Given the description of an element on the screen output the (x, y) to click on. 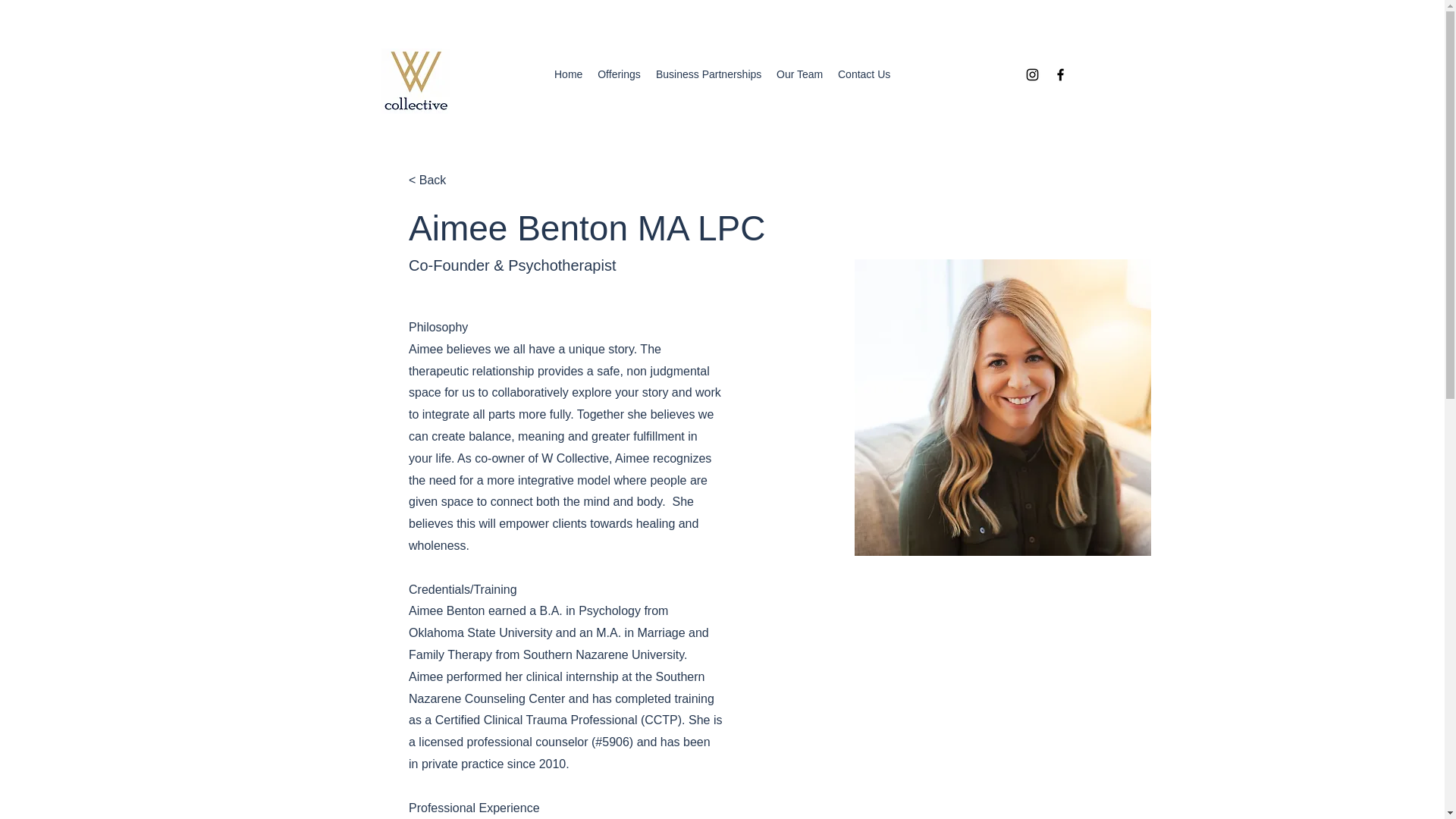
Our Team (798, 74)
Contact Us (863, 74)
Business Partnerships (707, 74)
